Given the description of an element on the screen output the (x, y) to click on. 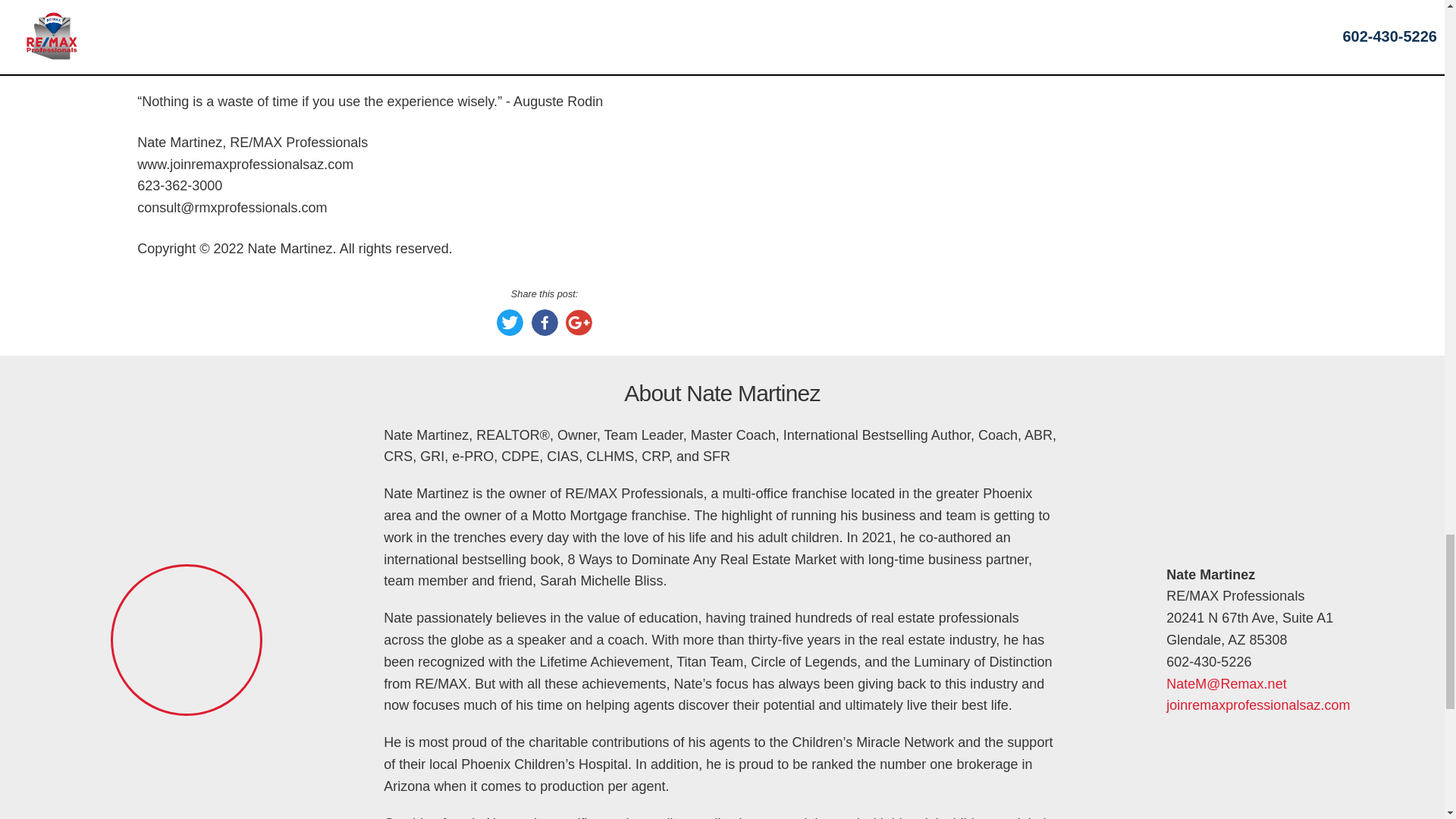
Share on Facebook (544, 331)
Share on Twitter (509, 331)
Share on Google plus (579, 331)
